Given the description of an element on the screen output the (x, y) to click on. 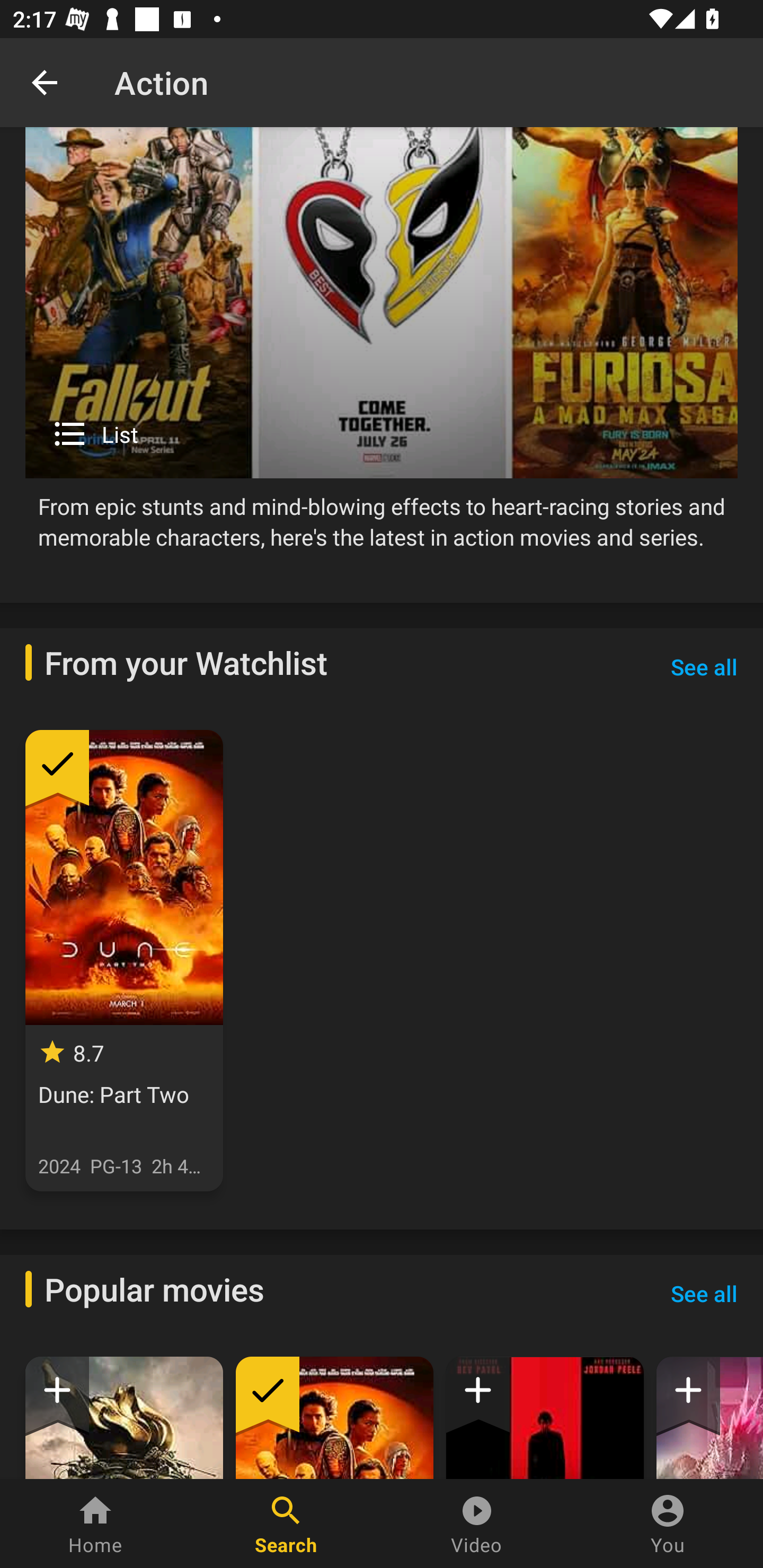
See all See all From your Watchlist (703, 666)
8.7 Dune: Part Two 2024  PG-13  2h 46m (123, 960)
See all See all Popular movies (703, 1293)
Home (95, 1523)
Video (476, 1523)
You (667, 1523)
